Given the description of an element on the screen output the (x, y) to click on. 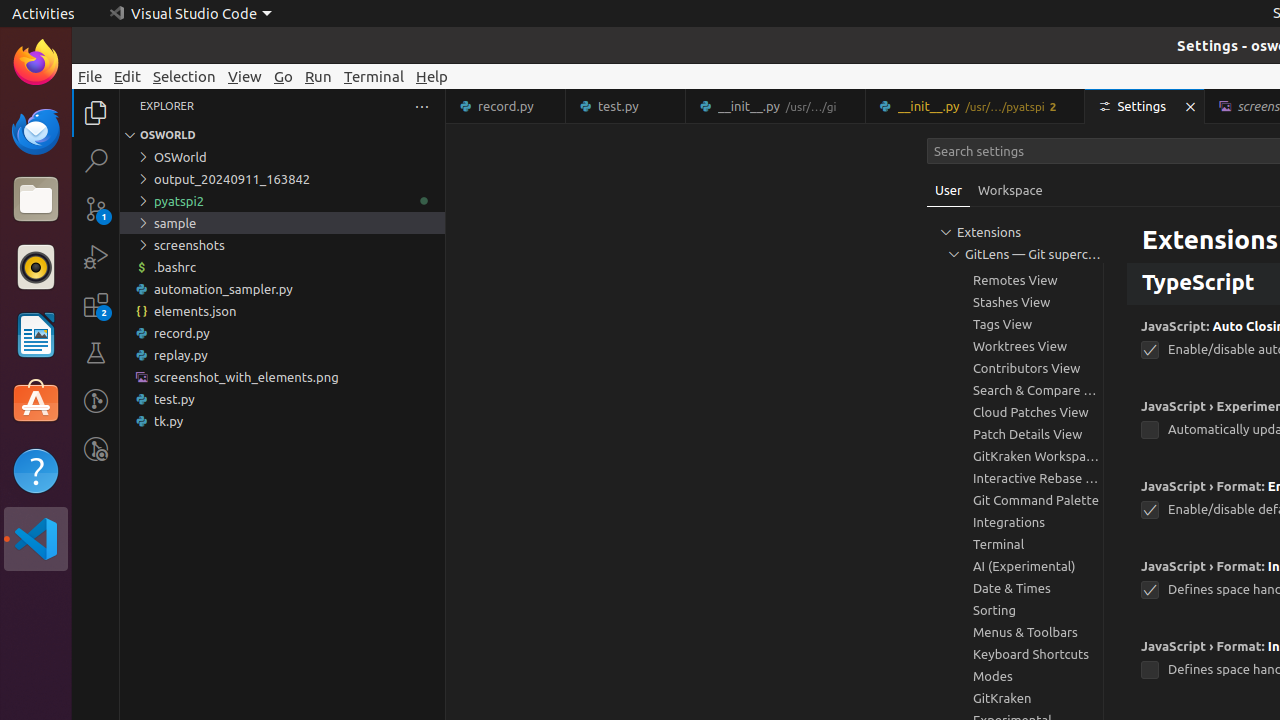
Run Element type: push-button (318, 76)
sample Element type: tree-item (282, 223)
AI (Experimental), group Element type: tree-item (1015, 566)
Interactive Rebase Editor, group Element type: tree-item (1015, 478)
Go Element type: push-button (283, 76)
